Given the description of an element on the screen output the (x, y) to click on. 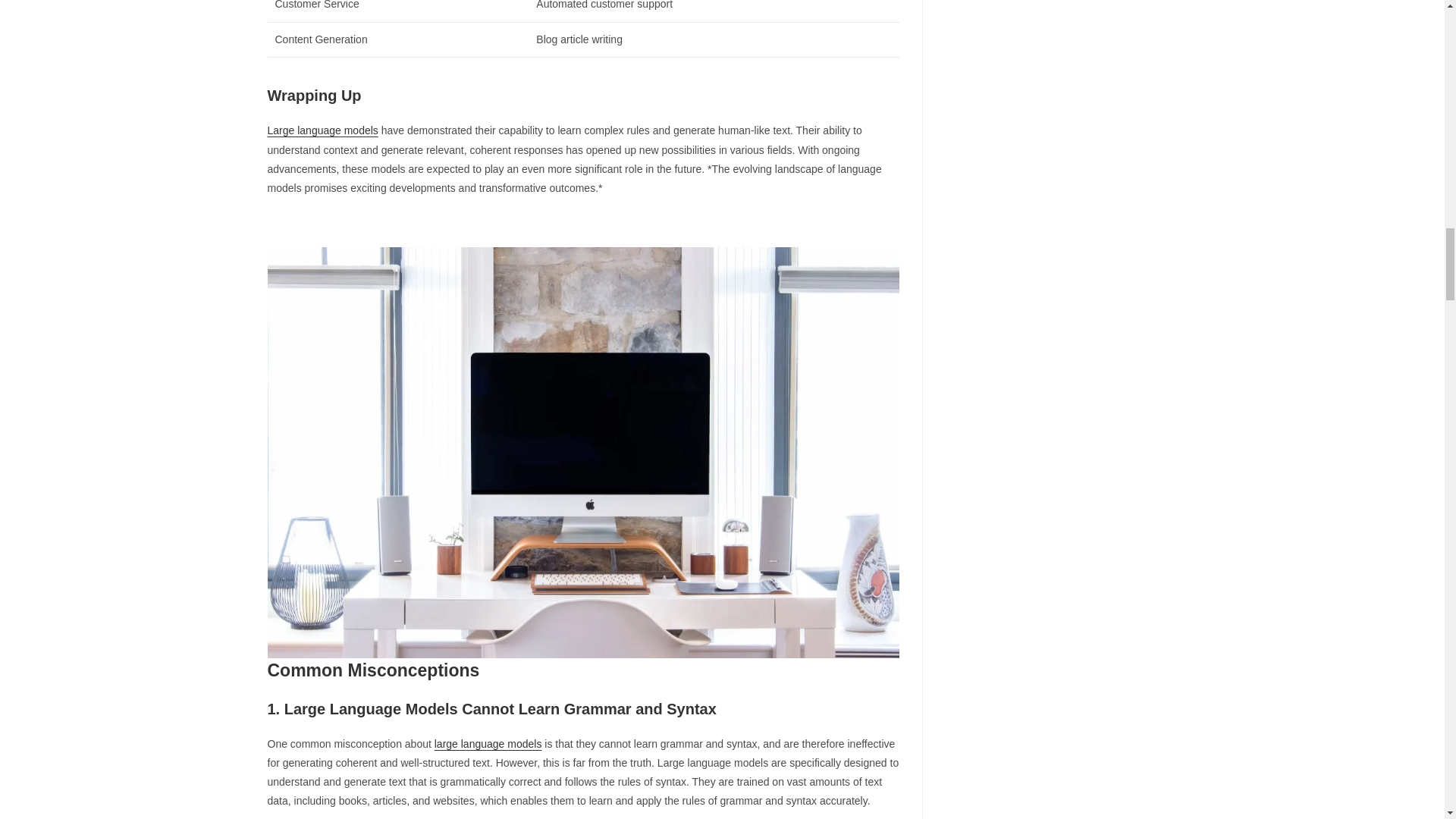
Large language models (321, 130)
large language models (487, 743)
